Given the description of an element on the screen output the (x, y) to click on. 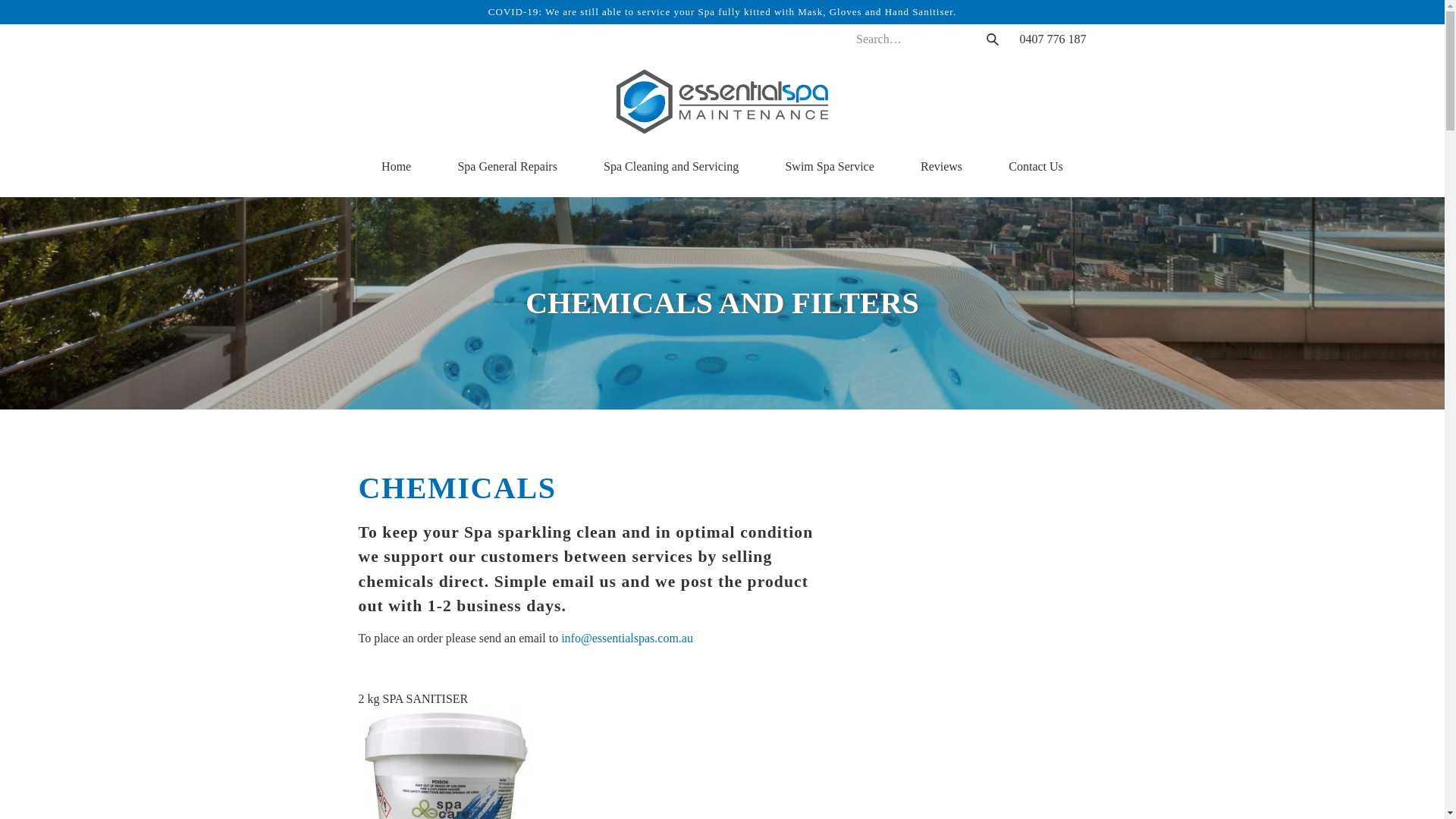
Reviews Element type: text (941, 166)
Contact Us Element type: text (1035, 166)
info@essentialspas.com.au  Element type: text (628, 637)
Spa Cleaning and Servicing Element type: text (670, 166)
Home Element type: text (396, 166)
Swim Spa Service Element type: text (828, 166)
Search Element type: hover (991, 39)
0407 776 187 Element type: text (1052, 39)
Spa General Repairs Element type: text (507, 166)
